Given the description of an element on the screen output the (x, y) to click on. 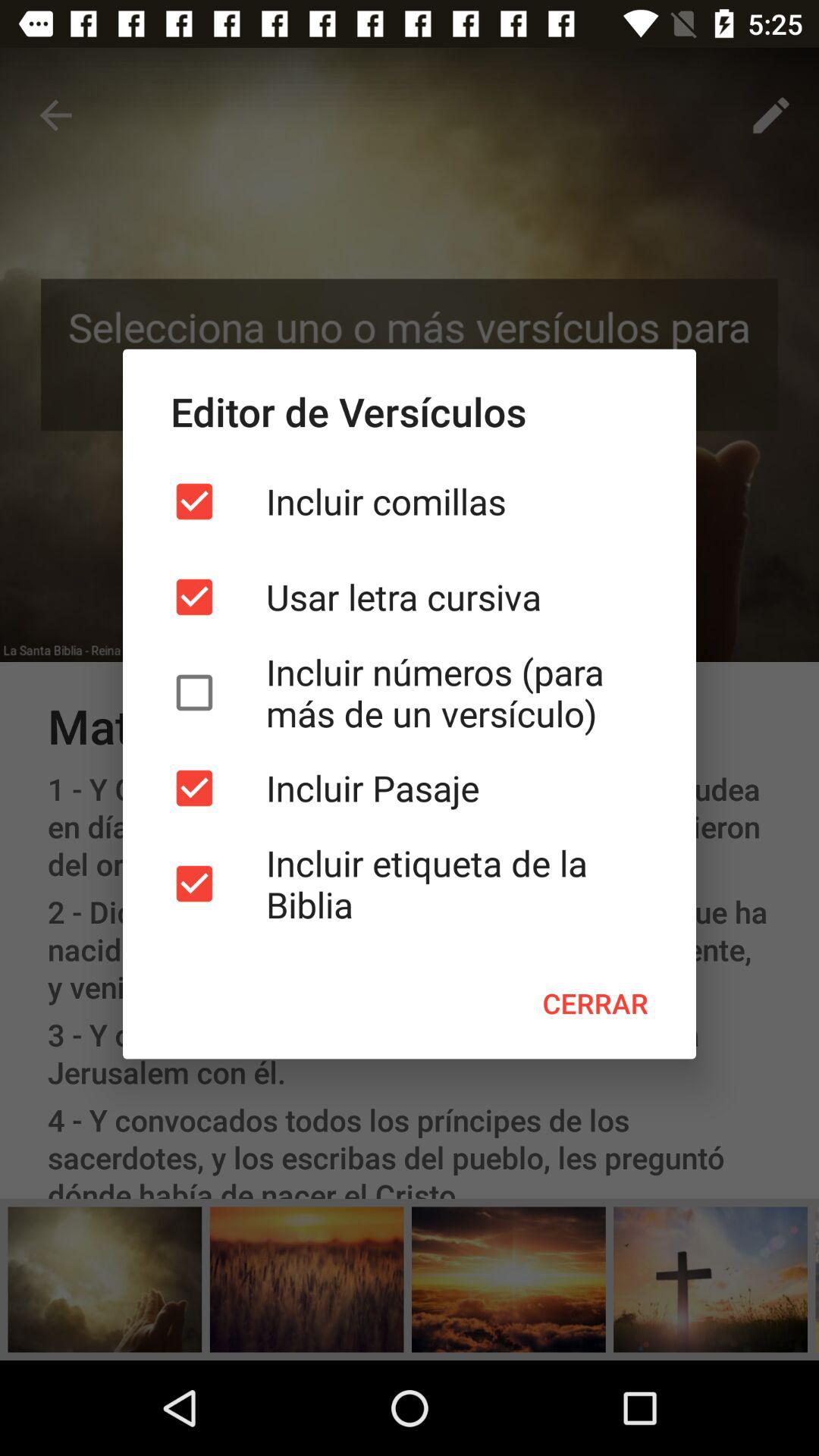
scroll to the usar letra cursiva item (409, 596)
